Given the description of an element on the screen output the (x, y) to click on. 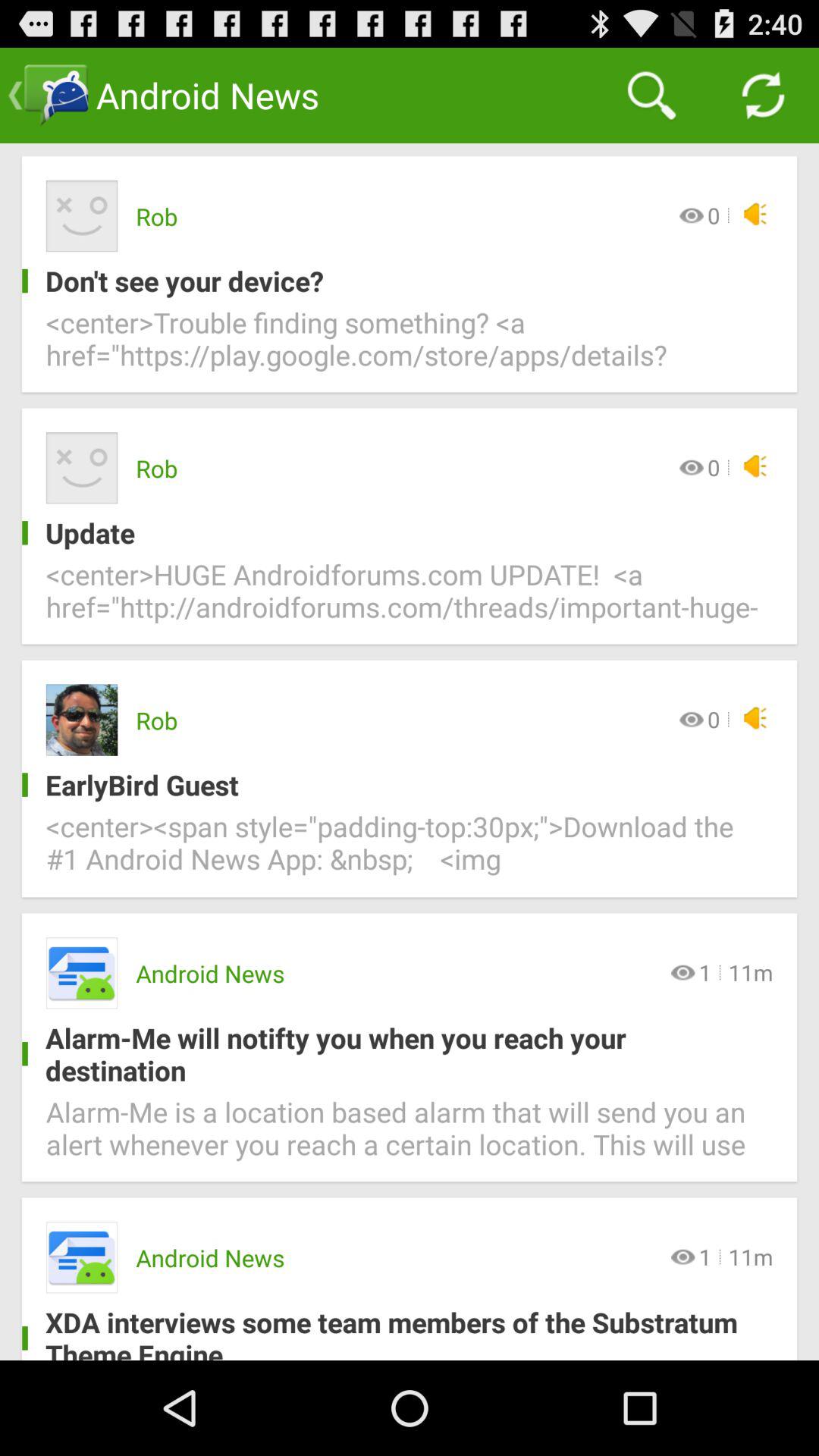
tap icon below the don t see (409, 347)
